Given the description of an element on the screen output the (x, y) to click on. 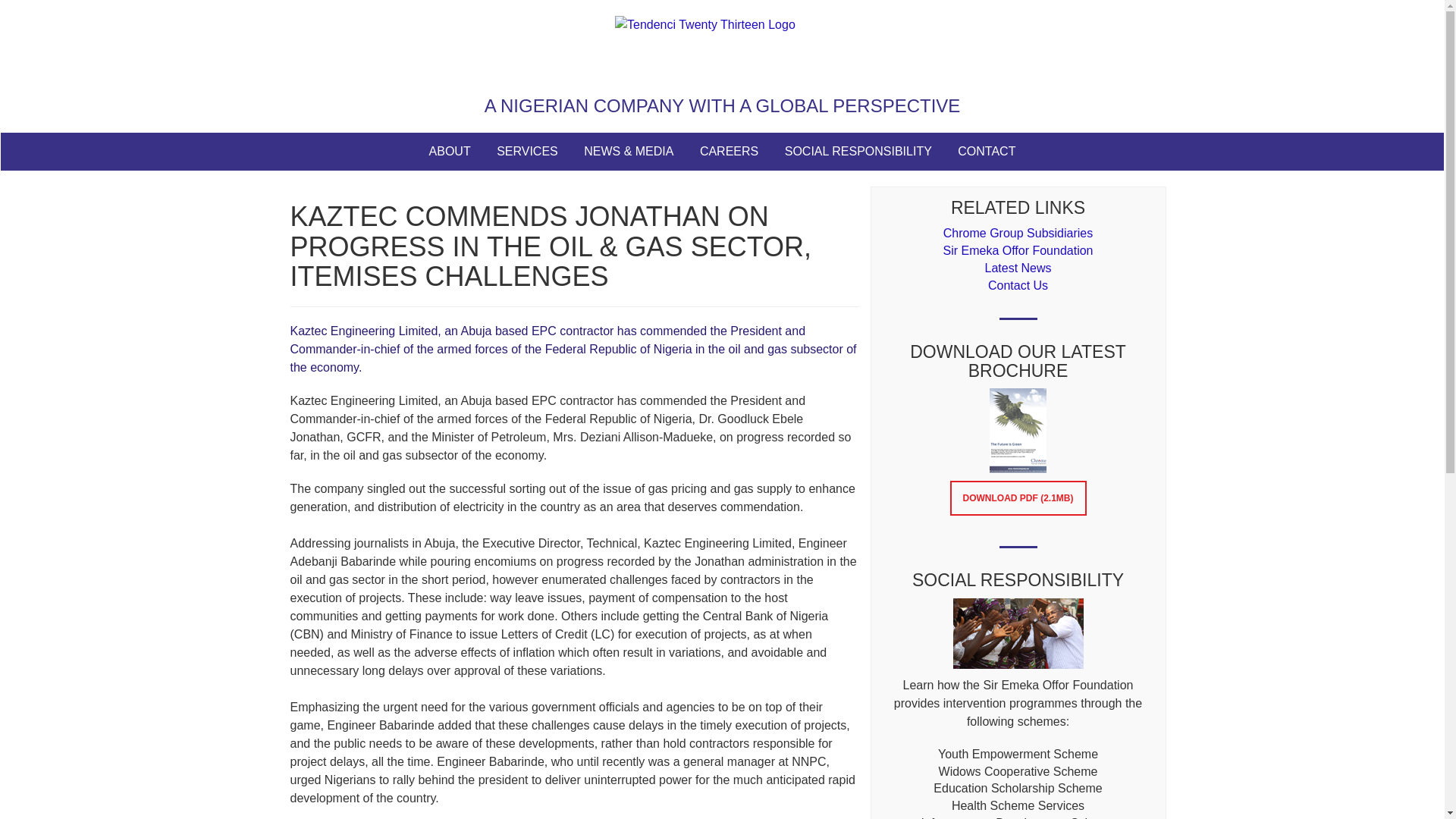
CONTACT (986, 151)
Latest News (1017, 267)
SOCIAL RESPONSIBILITY (858, 151)
SERVICES (526, 151)
ABOUT (449, 151)
Chrome Group Subsidiaries (1018, 232)
CAREERS (729, 151)
Contact Us (1018, 285)
Sir Emeka Offor Foundation (1017, 250)
Welcome to Tendenci's Twenty Thirteen Temlate Demo! (721, 50)
